Given the description of an element on the screen output the (x, y) to click on. 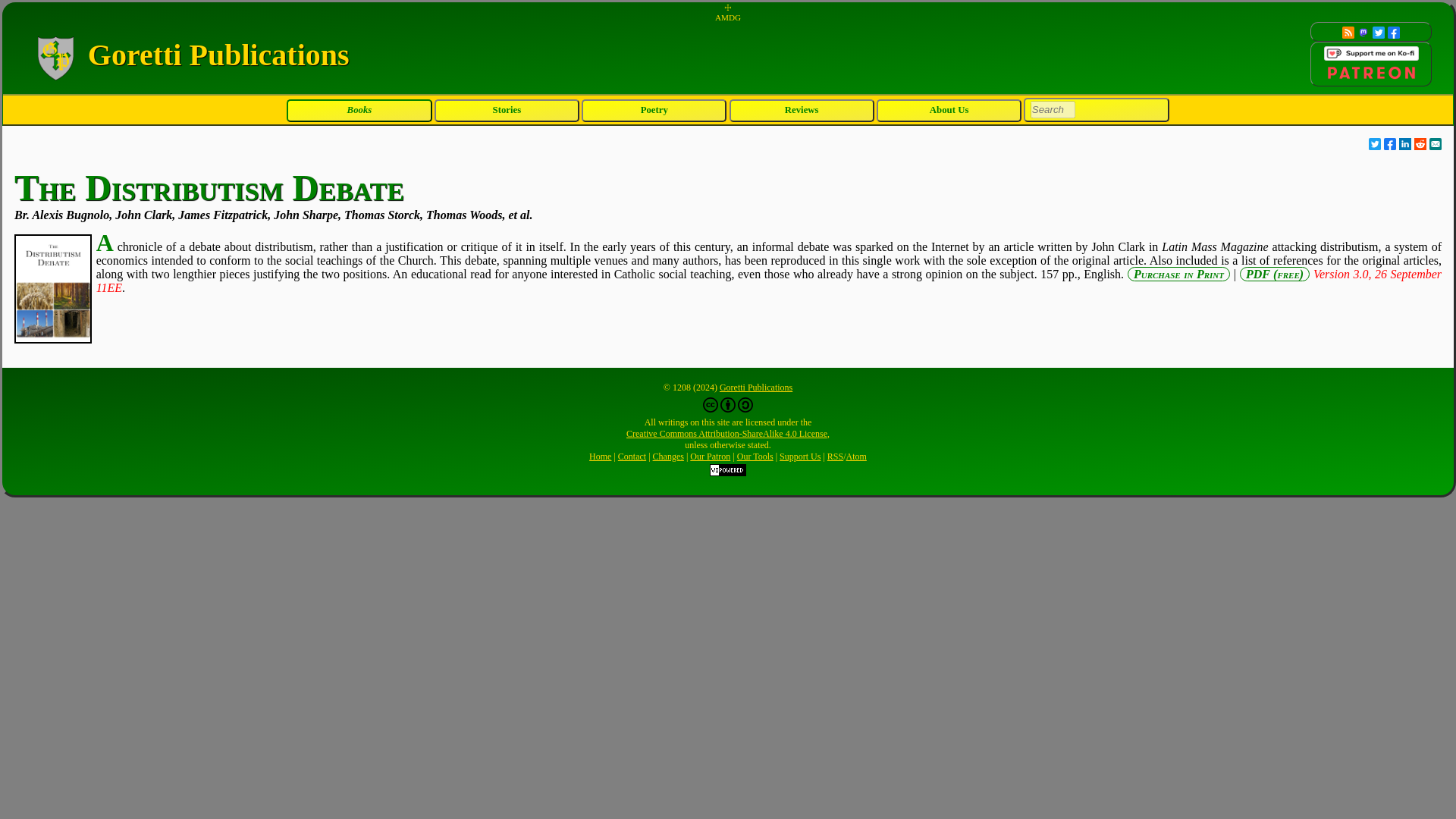
Share this page via Reddit (1419, 143)
Changes (668, 456)
RSS (835, 456)
Purchase in Print (1178, 273)
Share this page via LinkedIn (1404, 143)
Support Us (799, 456)
Books (359, 110)
Goretti Publications:  Stories (506, 110)
Goretti Publications:  Poetry (654, 110)
Share this page via email (1435, 143)
